Given the description of an element on the screen output the (x, y) to click on. 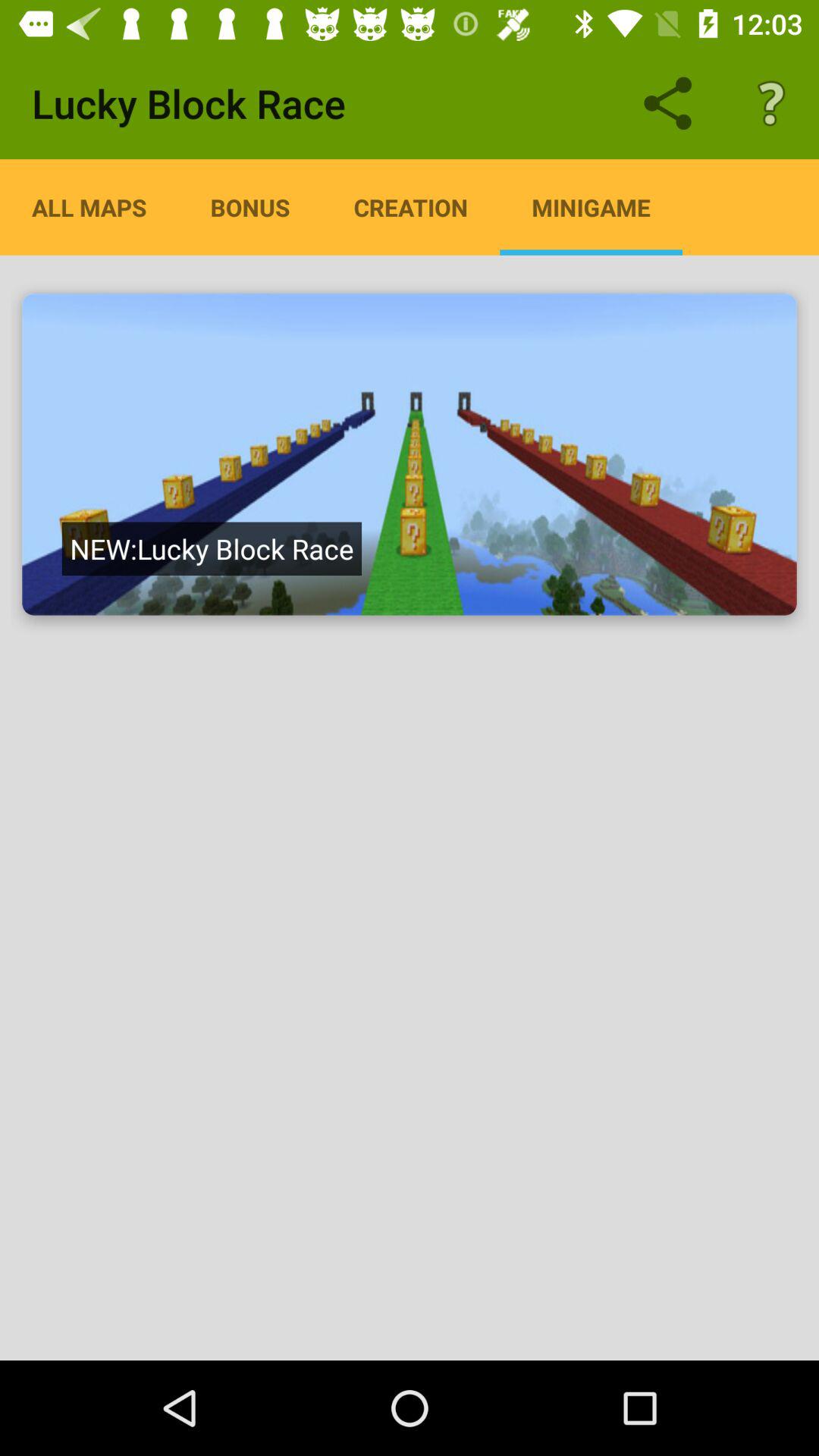
tap icon next to the creation icon (590, 207)
